Given the description of an element on the screen output the (x, y) to click on. 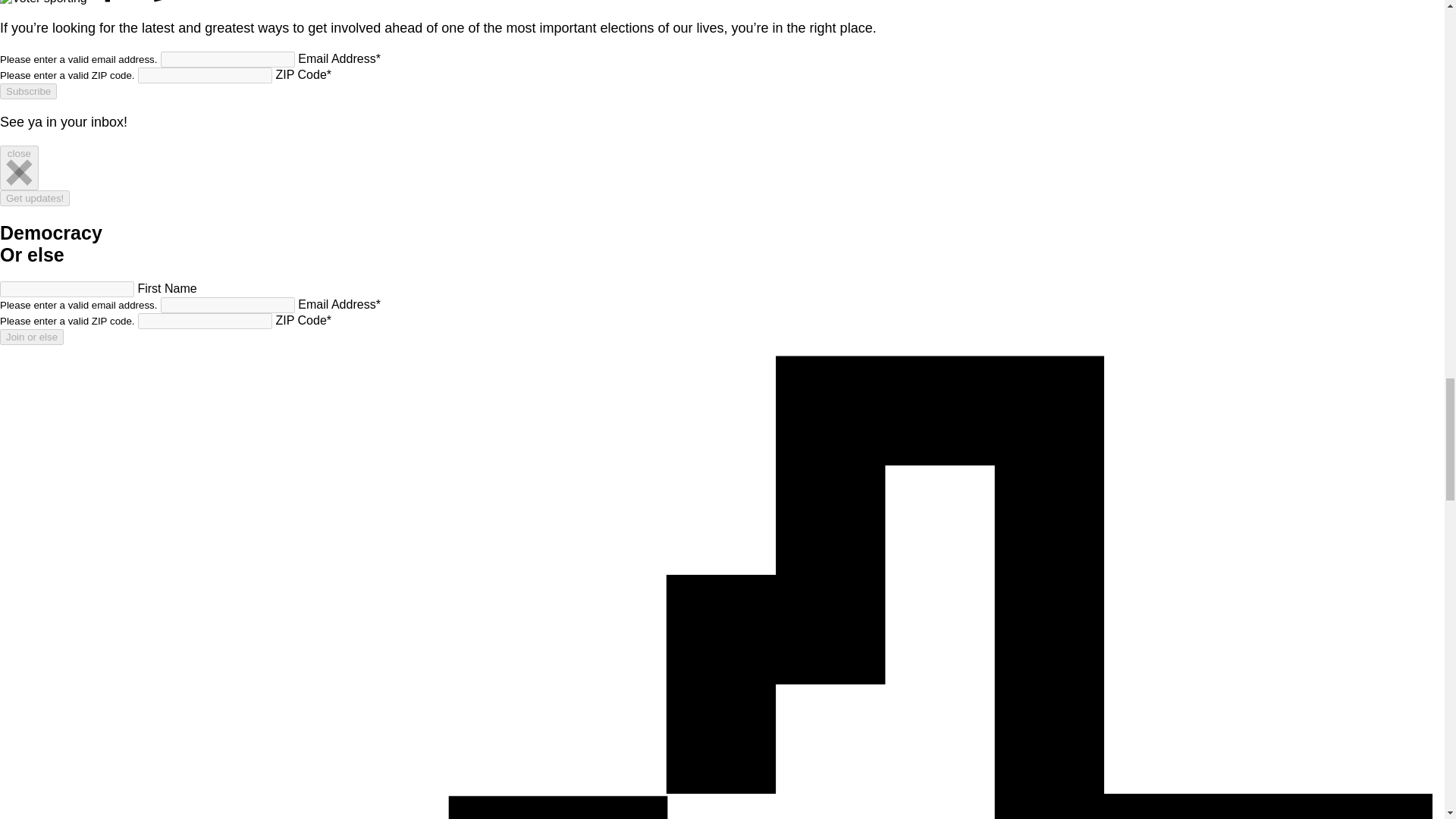
Subscribe (28, 91)
Five digit zip code (205, 75)
Join or else (32, 336)
Subscribe (28, 91)
Five digit zip code (205, 320)
